Given the description of an element on the screen output the (x, y) to click on. 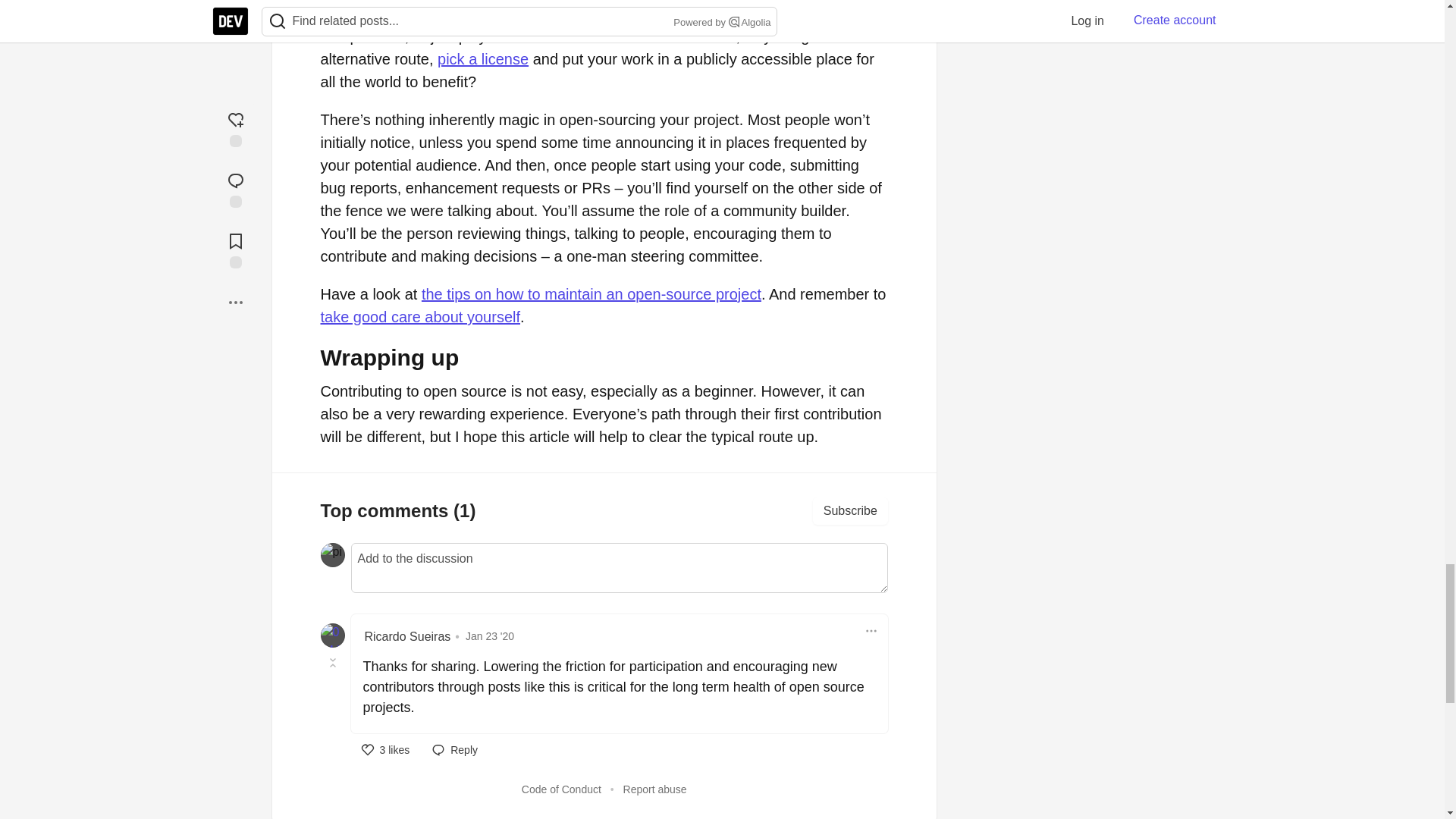
Dropdown menu (870, 630)
